Given the description of an element on the screen output the (x, y) to click on. 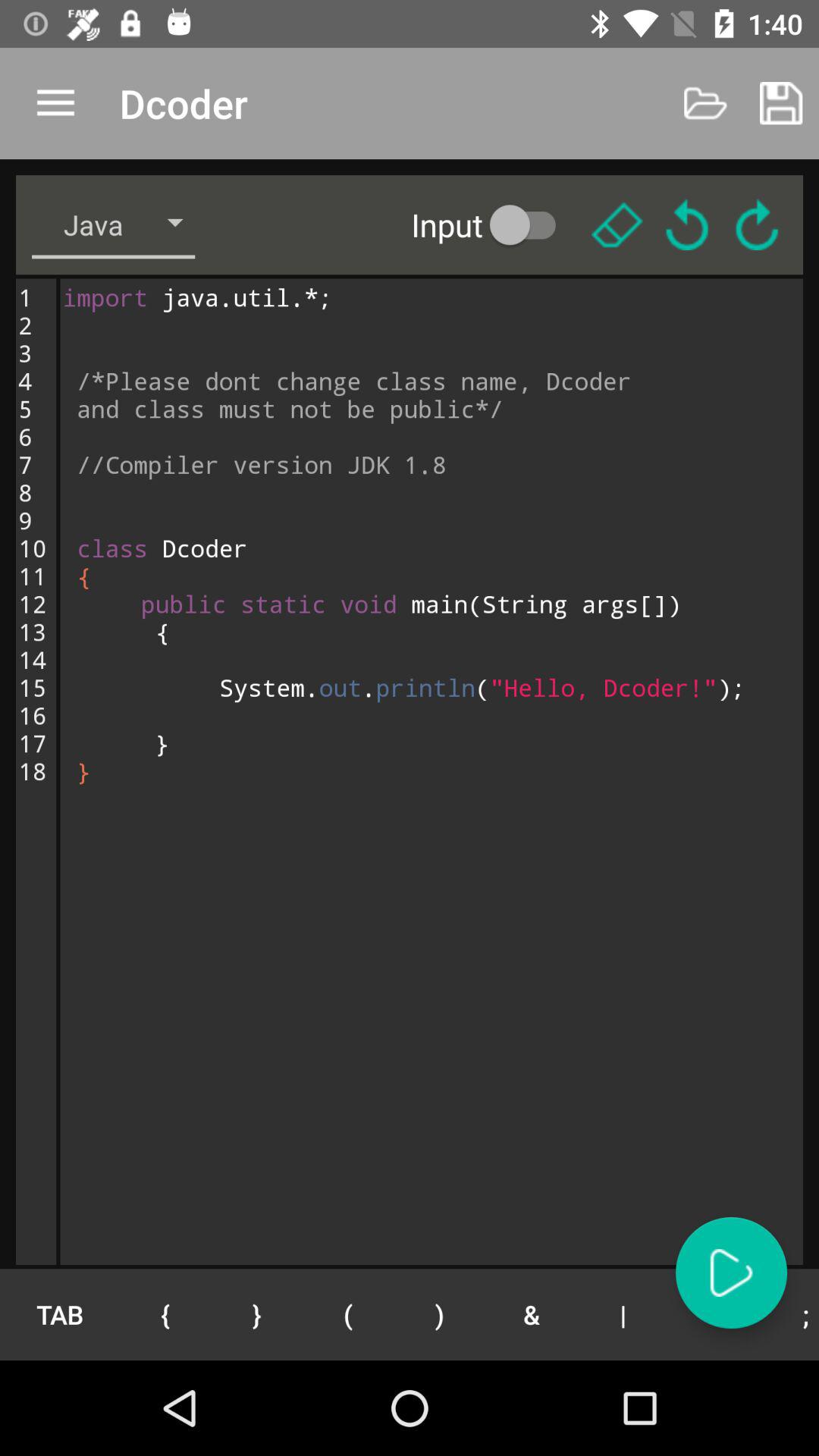
click item to the right of the " icon (789, 1314)
